Given the description of an element on the screen output the (x, y) to click on. 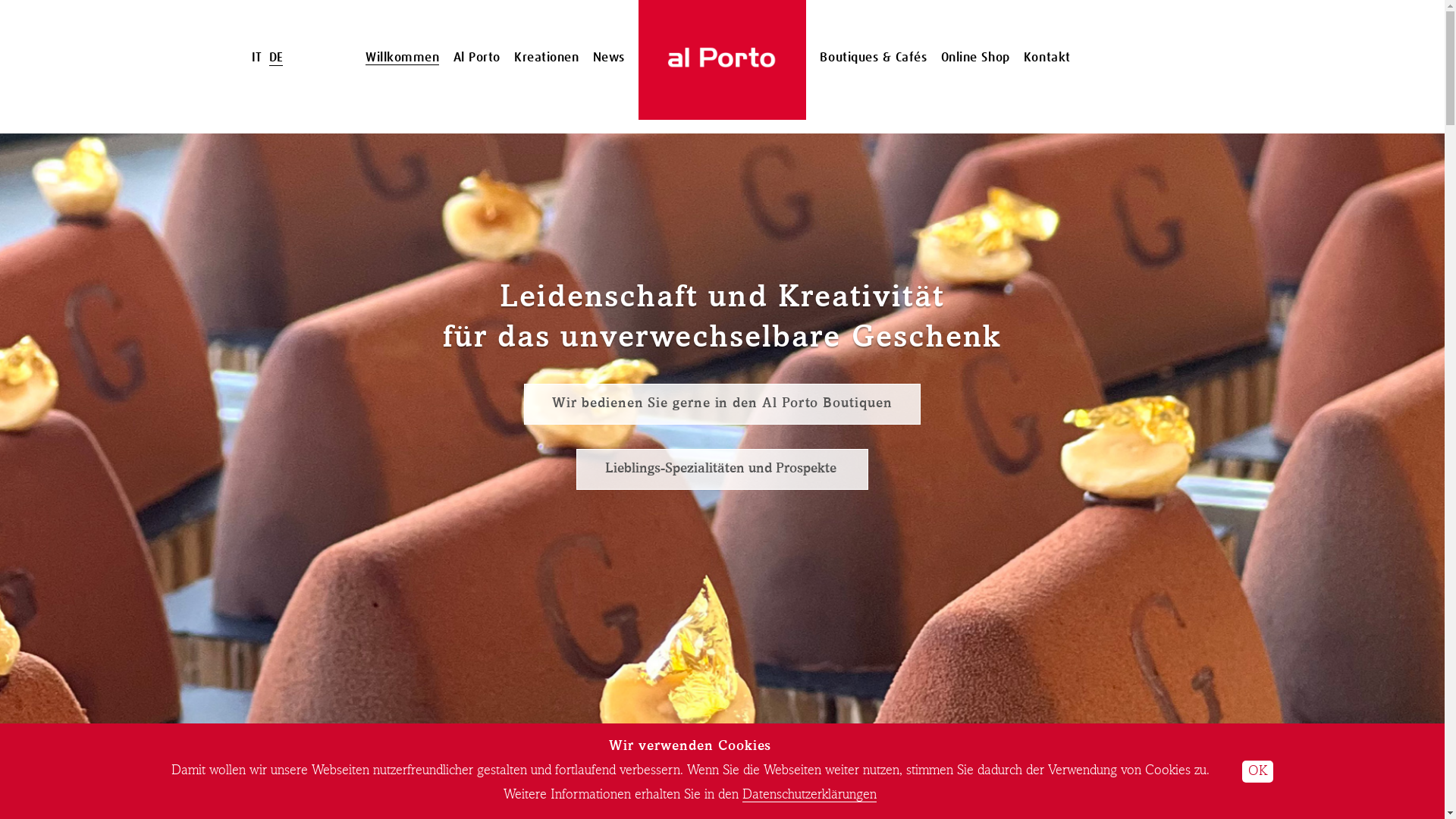
Kontakt Element type: text (1046, 57)
Wir bedienen Sie gerne in den Al Porto Boutiquen Element type: text (722, 403)
News Element type: text (608, 57)
Al Porto Element type: text (476, 57)
IT Element type: text (256, 57)
Willkommen Element type: text (402, 57)
OK Element type: text (1257, 771)
DE Element type: text (275, 58)
alporto-home Element type: text (722, 59)
Online Shop Element type: text (975, 57)
Kreationen Element type: text (546, 57)
